Given the description of an element on the screen output the (x, y) to click on. 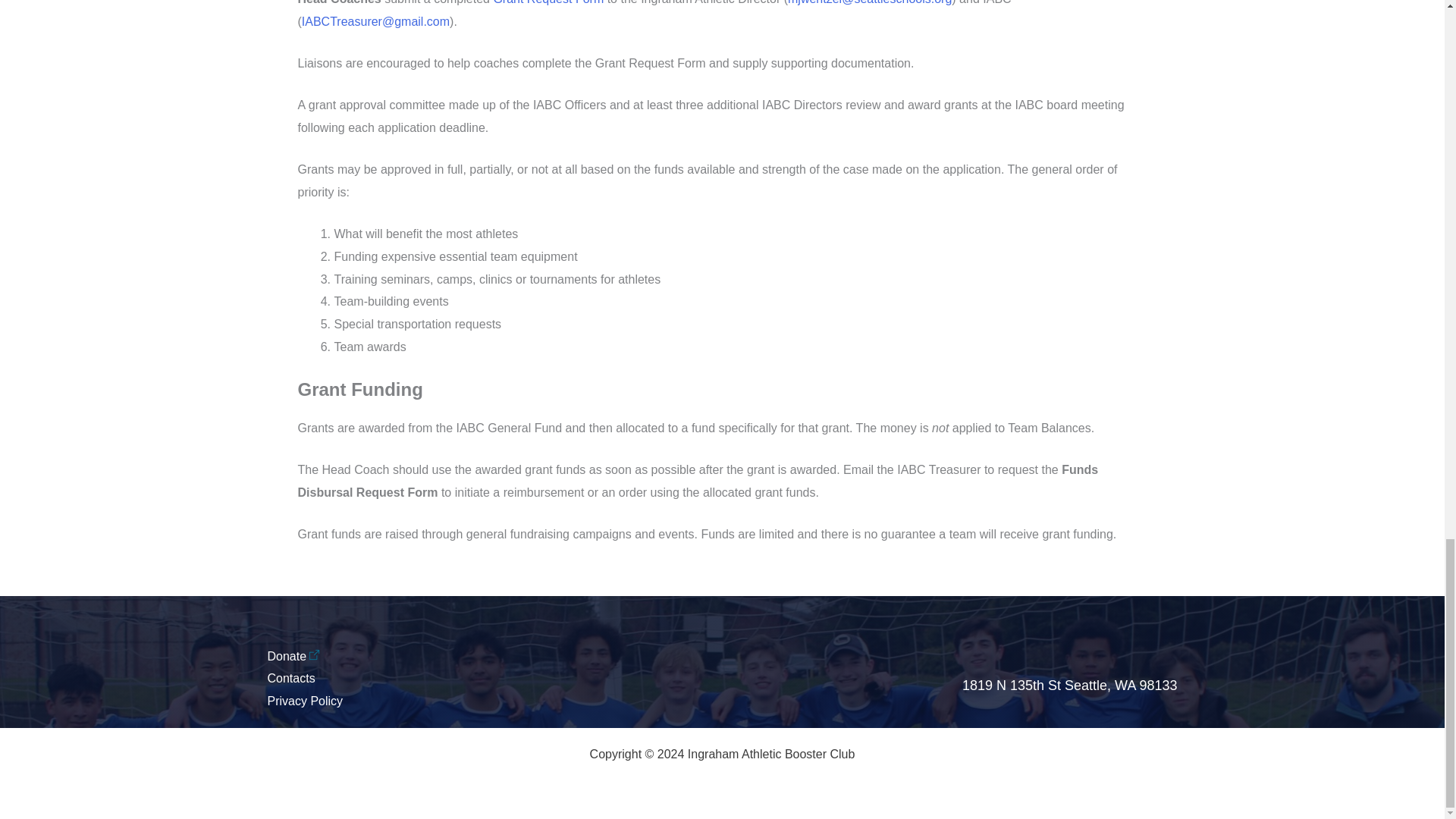
Grant Request Form (548, 2)
Contacts (290, 677)
Donate (293, 656)
Privacy Policy (304, 700)
